Given the description of an element on the screen output the (x, y) to click on. 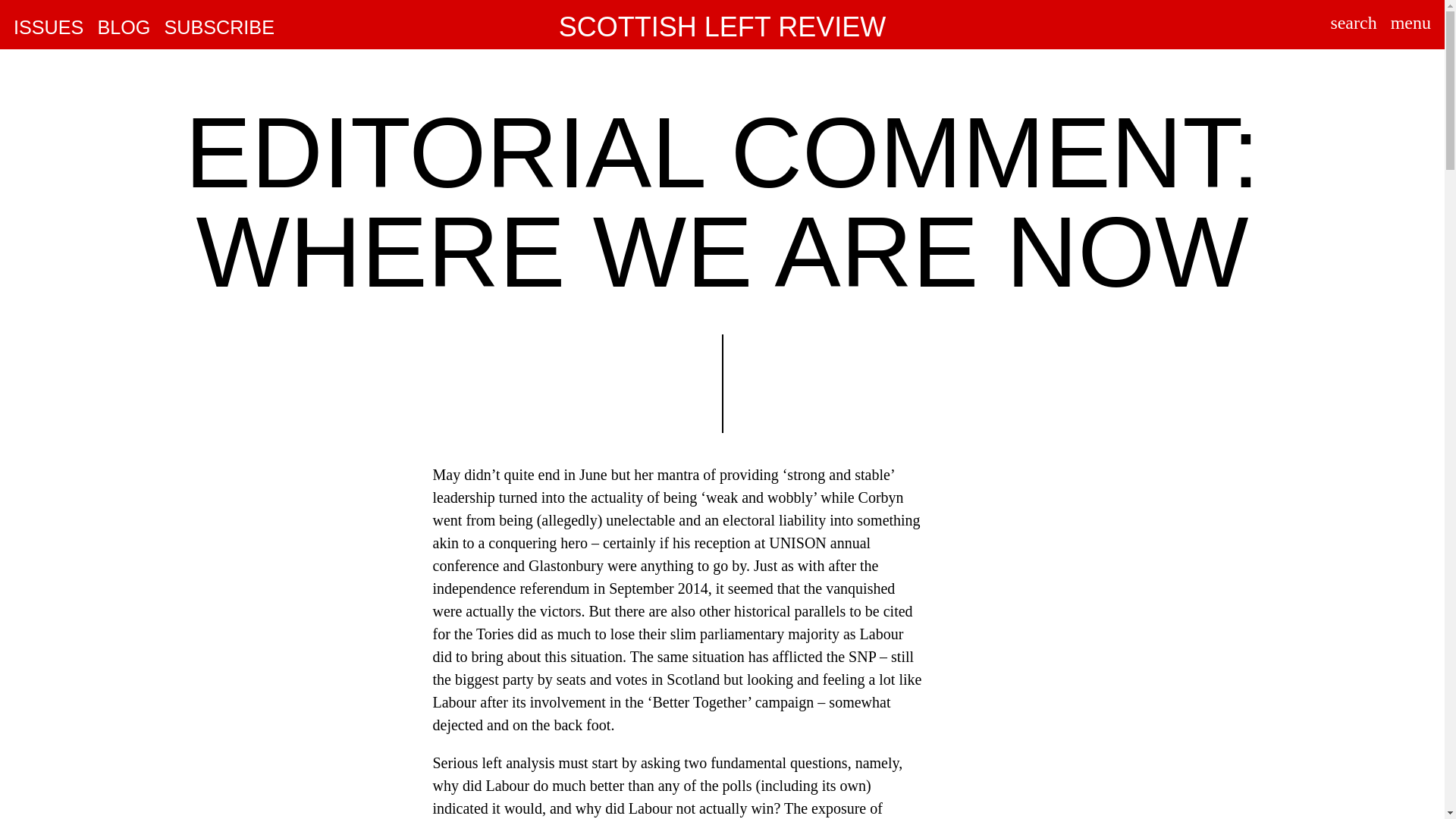
ISSUES (47, 27)
SUBSCRIBE (219, 27)
SCOTTISH LEFT REVIEW (722, 26)
BLOG (123, 27)
